Given the description of an element on the screen output the (x, y) to click on. 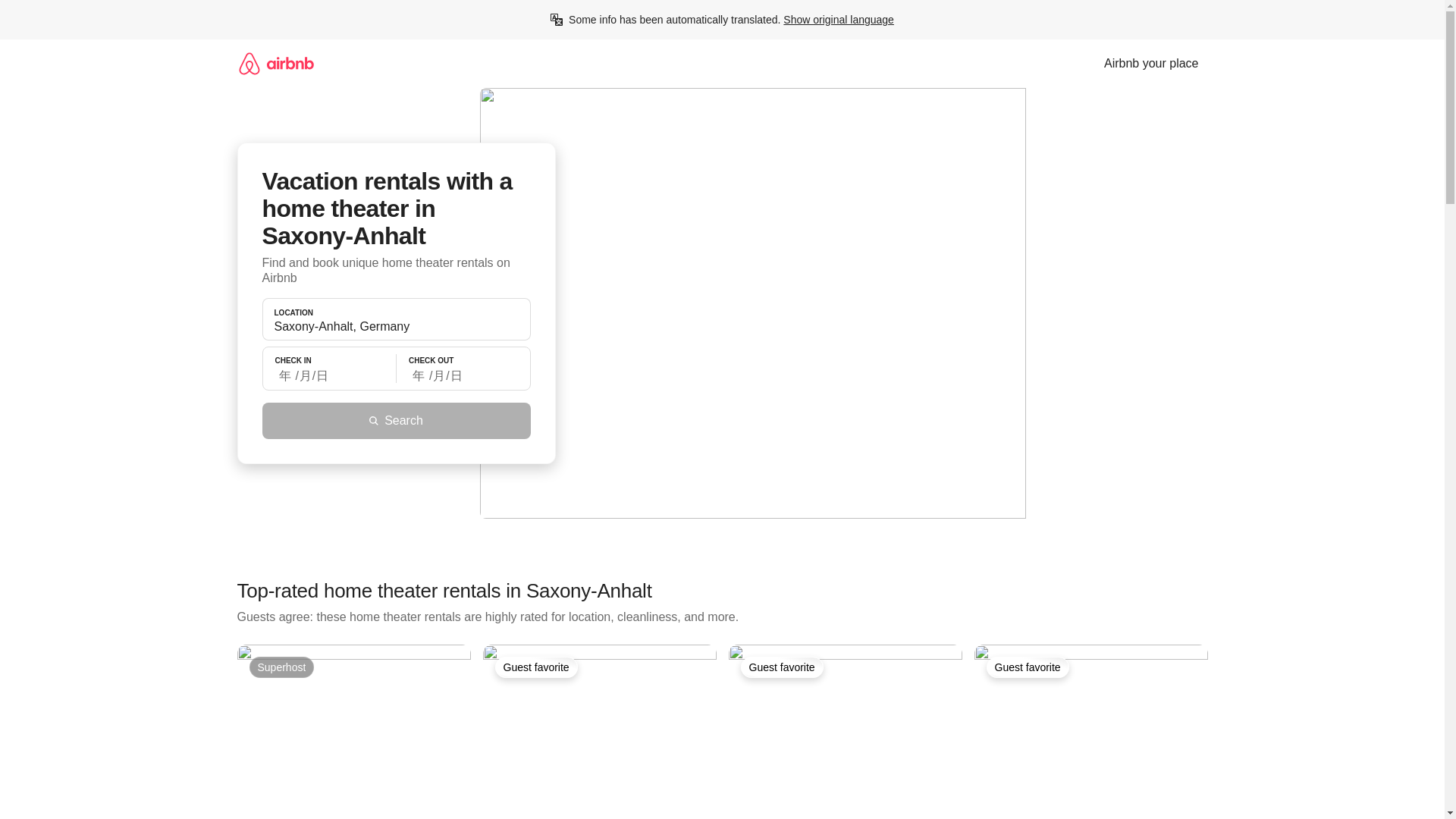
Show original language (838, 19)
Search (396, 420)
Airbnb your place (1151, 62)
Saxony-Anhalt, Germany (396, 326)
